Given the description of an element on the screen output the (x, y) to click on. 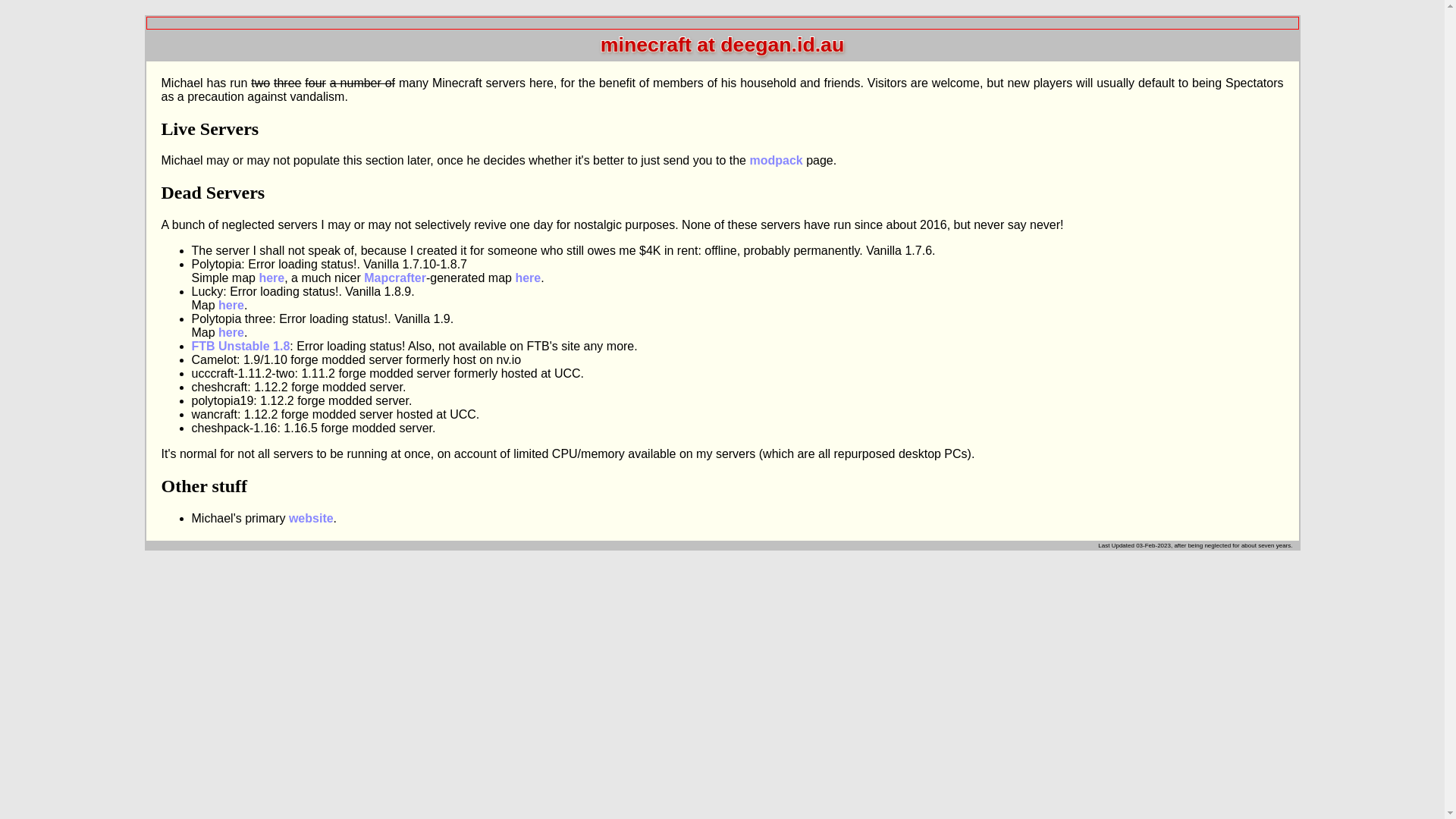
Mapcrafter Element type: text (395, 277)
here Element type: text (271, 277)
here Element type: text (527, 277)
FTB Unstable 1.8 Element type: text (240, 345)
website Element type: text (310, 517)
here Element type: text (231, 304)
here Element type: text (231, 332)
modpack Element type: text (775, 159)
